Given the description of an element on the screen output the (x, y) to click on. 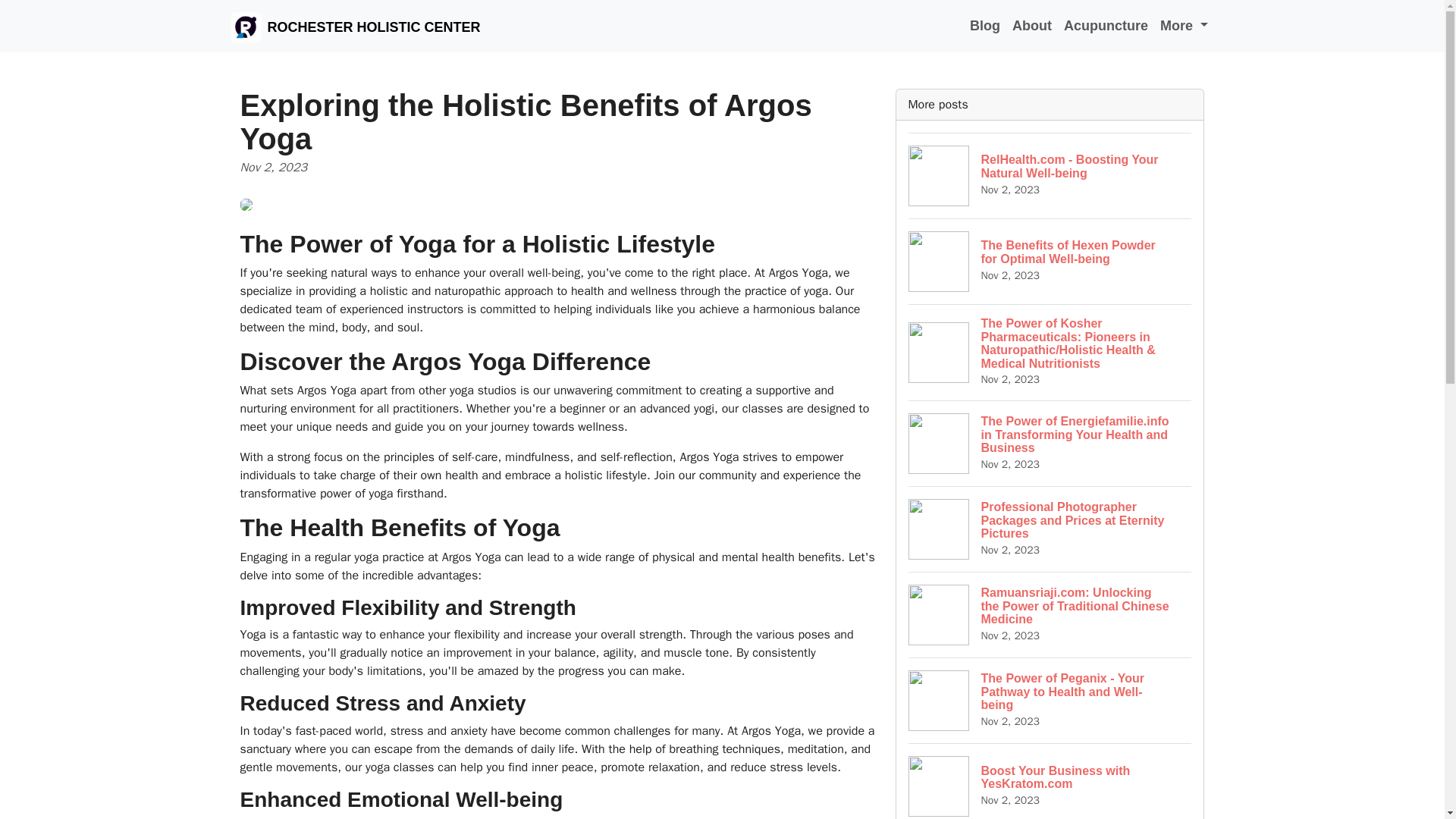
About (1032, 25)
ROCHESTER HOLISTIC CENTER (355, 25)
Blog (1050, 780)
Acupuncture (984, 25)
More (1106, 25)
